Given the description of an element on the screen output the (x, y) to click on. 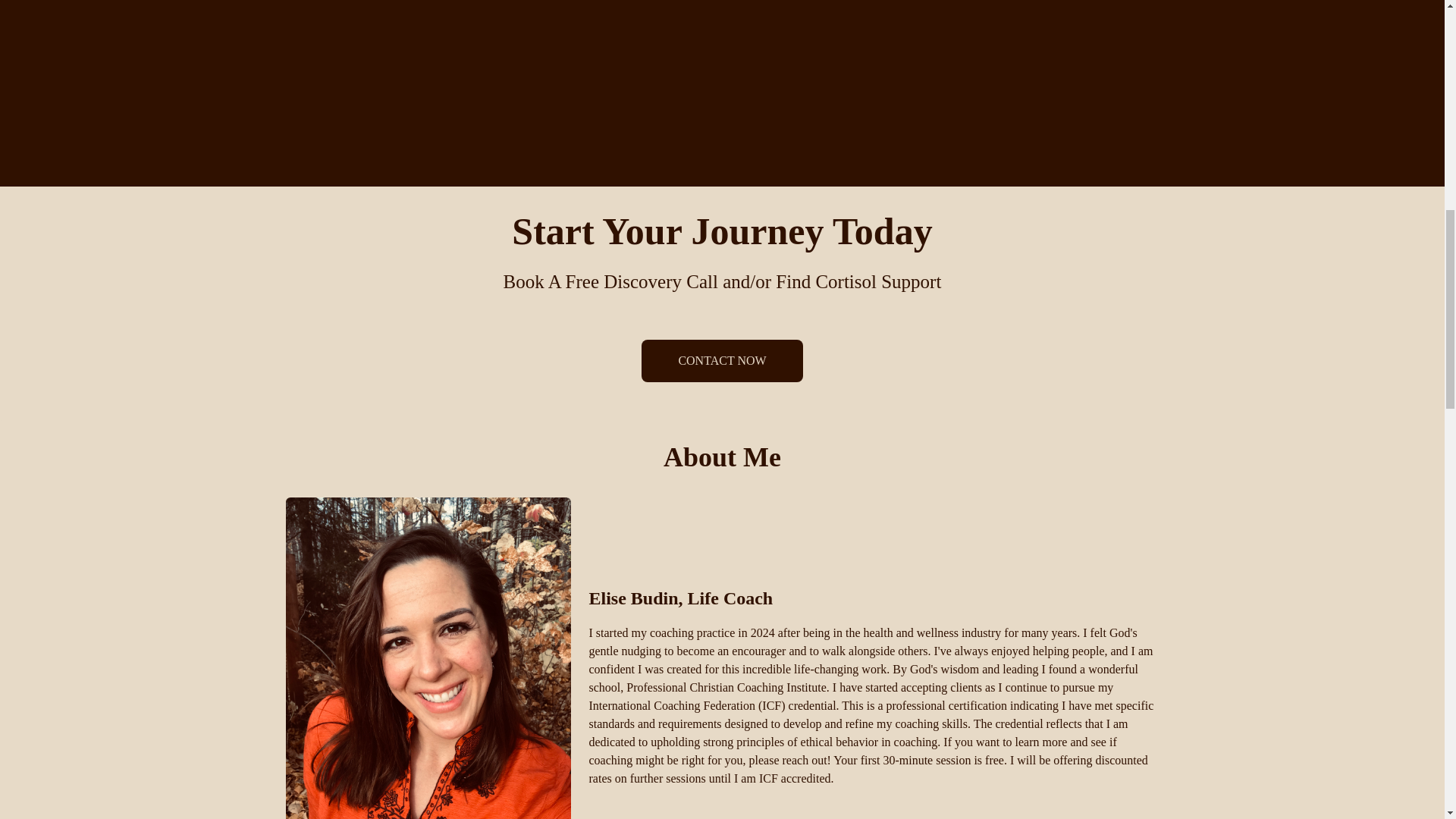
CONTACT NOW (722, 360)
CONTACT NOW (722, 360)
